Given the description of an element on the screen output the (x, y) to click on. 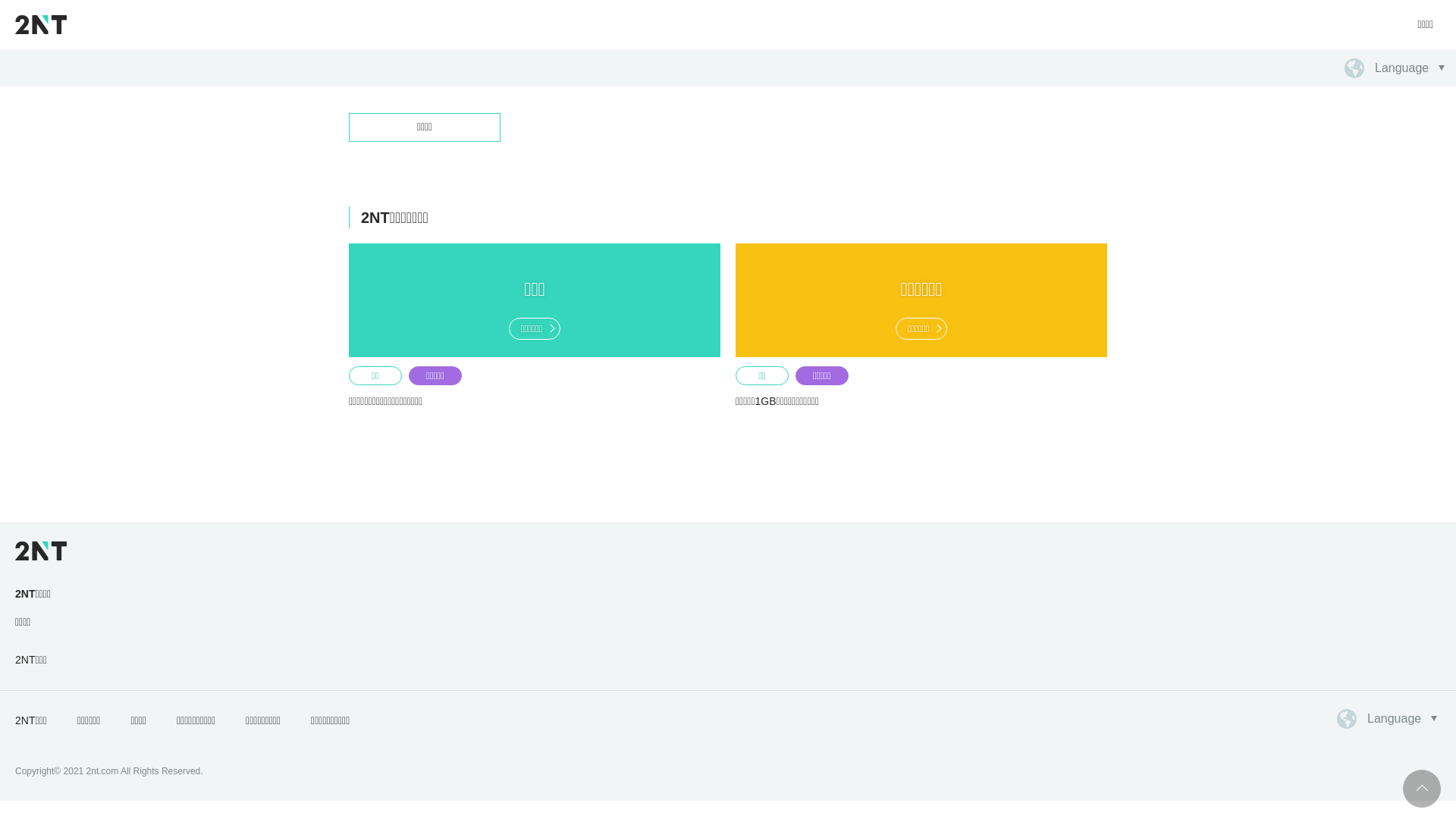
2NT Element type: hover (40, 24)
